Given the description of an element on the screen output the (x, y) to click on. 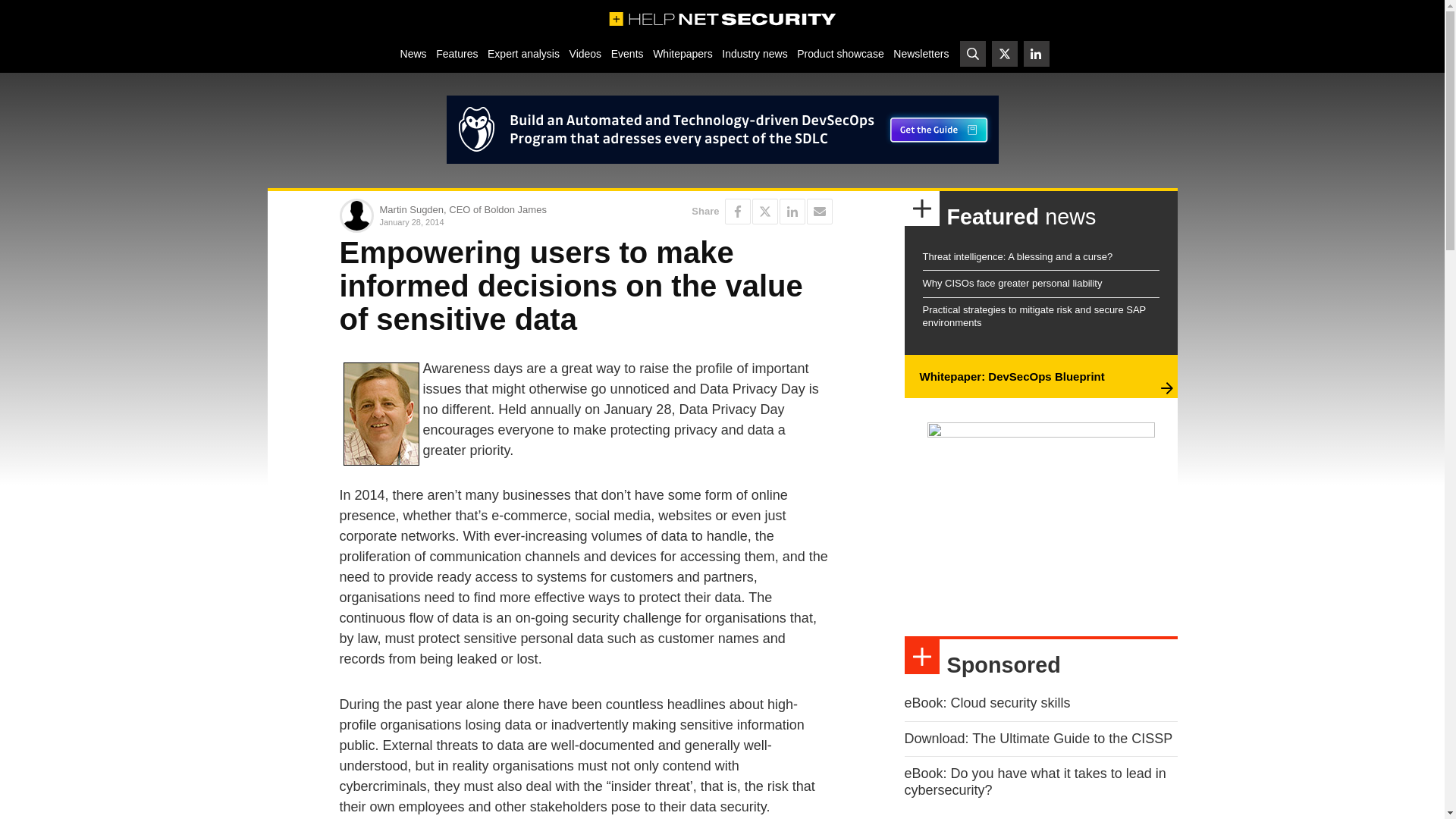
eBook: Cloud security skills (987, 702)
Industry news (754, 53)
Features (456, 53)
January 28, 2014 (478, 221)
Newsletters (920, 53)
Videos (584, 53)
Events (626, 53)
eBook: Do you have what it takes to lead in cybersecurity? (1035, 781)
Whitepaper: DevSecOps Blueprint (1010, 376)
Why CISOs face greater personal liability (1011, 283)
Product showcase (840, 53)
eBook: Do you have what it takes to lead in cybersecurity? (1035, 781)
